Given the description of an element on the screen output the (x, y) to click on. 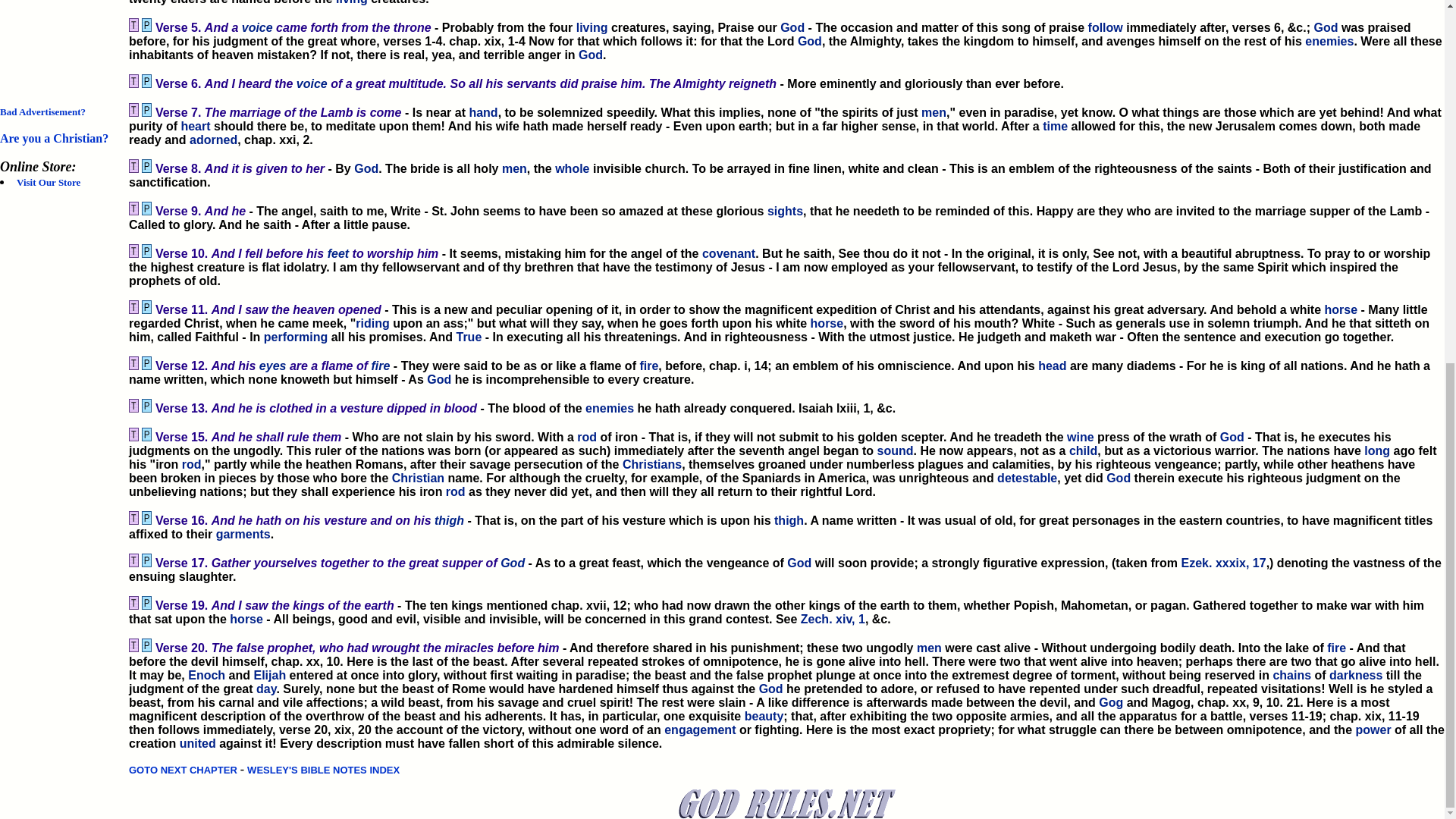
Visit Our Store (48, 182)
Bad Advertisement? (42, 111)
Are you a Christian? (53, 137)
